Given the description of an element on the screen output the (x, y) to click on. 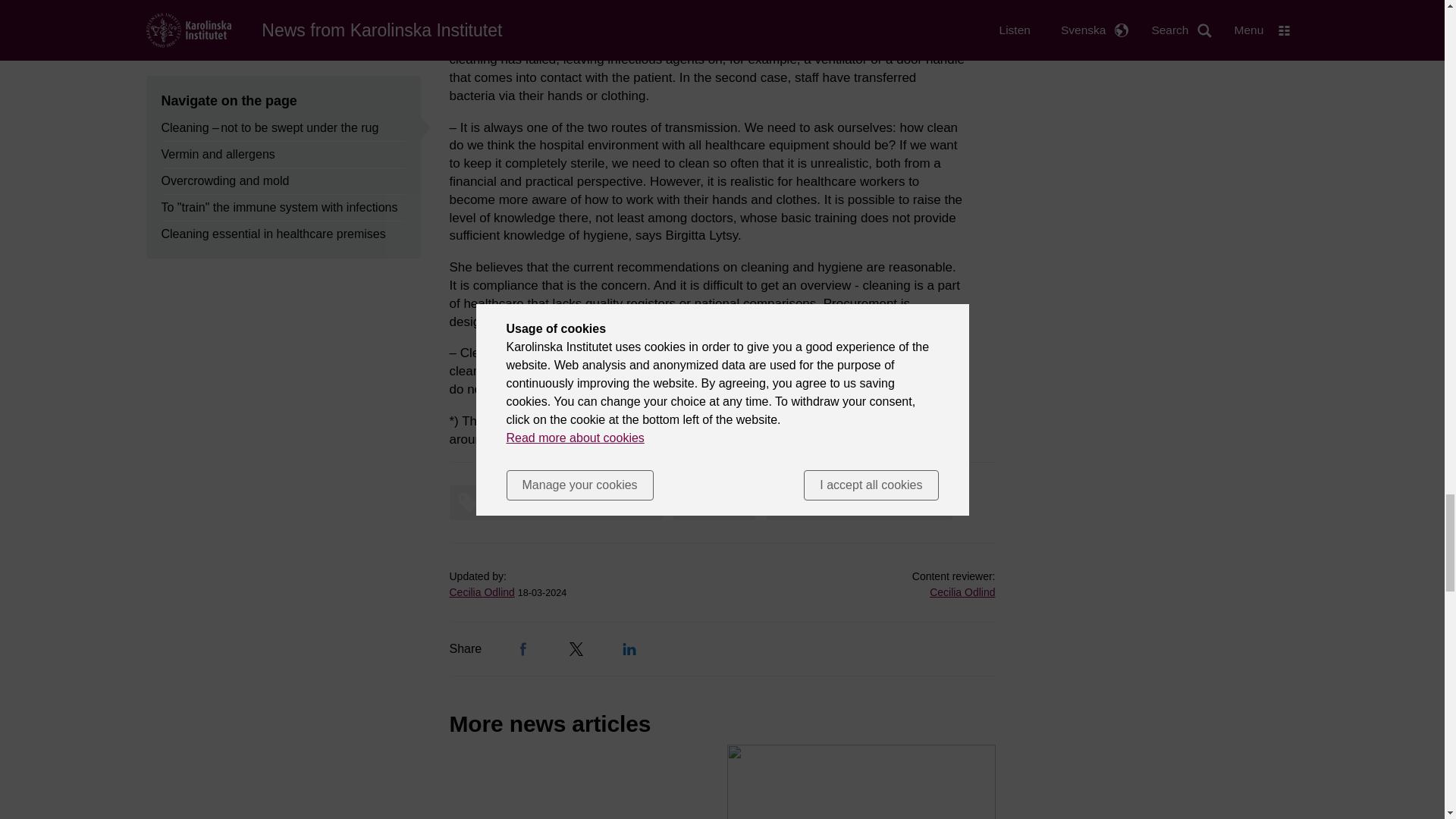
Cecilia Odlind (480, 592)
Twitter (576, 648)
Infectious Disease Control (863, 502)
Cecilia Odlind (962, 592)
Facebook (523, 648)
LinkedIn (629, 648)
The Magazine Medical Science (558, 502)
Allergy (717, 502)
